Given the description of an element on the screen output the (x, y) to click on. 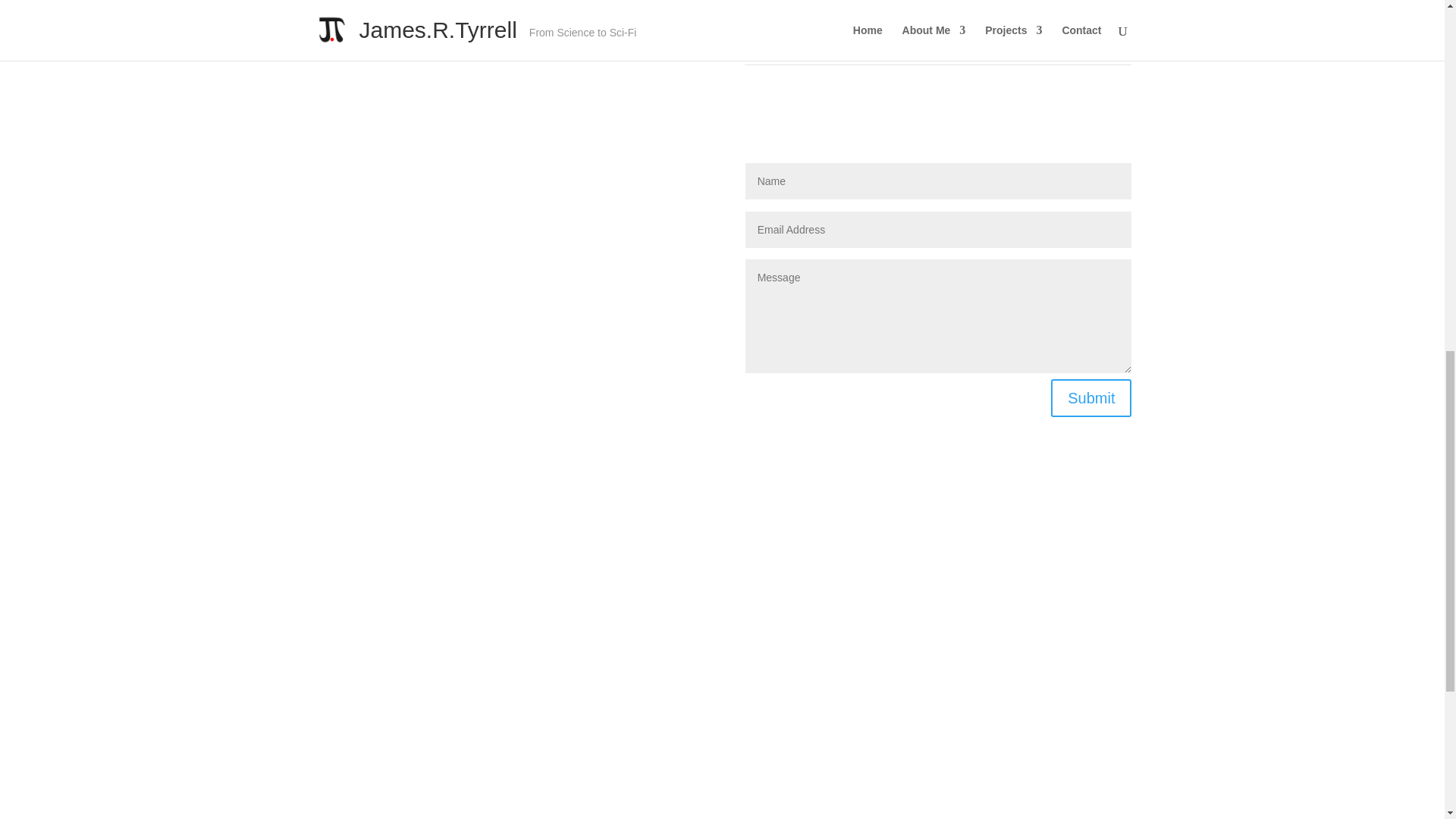
Follow on Youtube (354, 435)
Follow on Instagram (324, 435)
Follow on X (445, 435)
Follow on LinkedIn (384, 435)
Follow on GitHub (415, 435)
Submit (1091, 397)
